Given the description of an element on the screen output the (x, y) to click on. 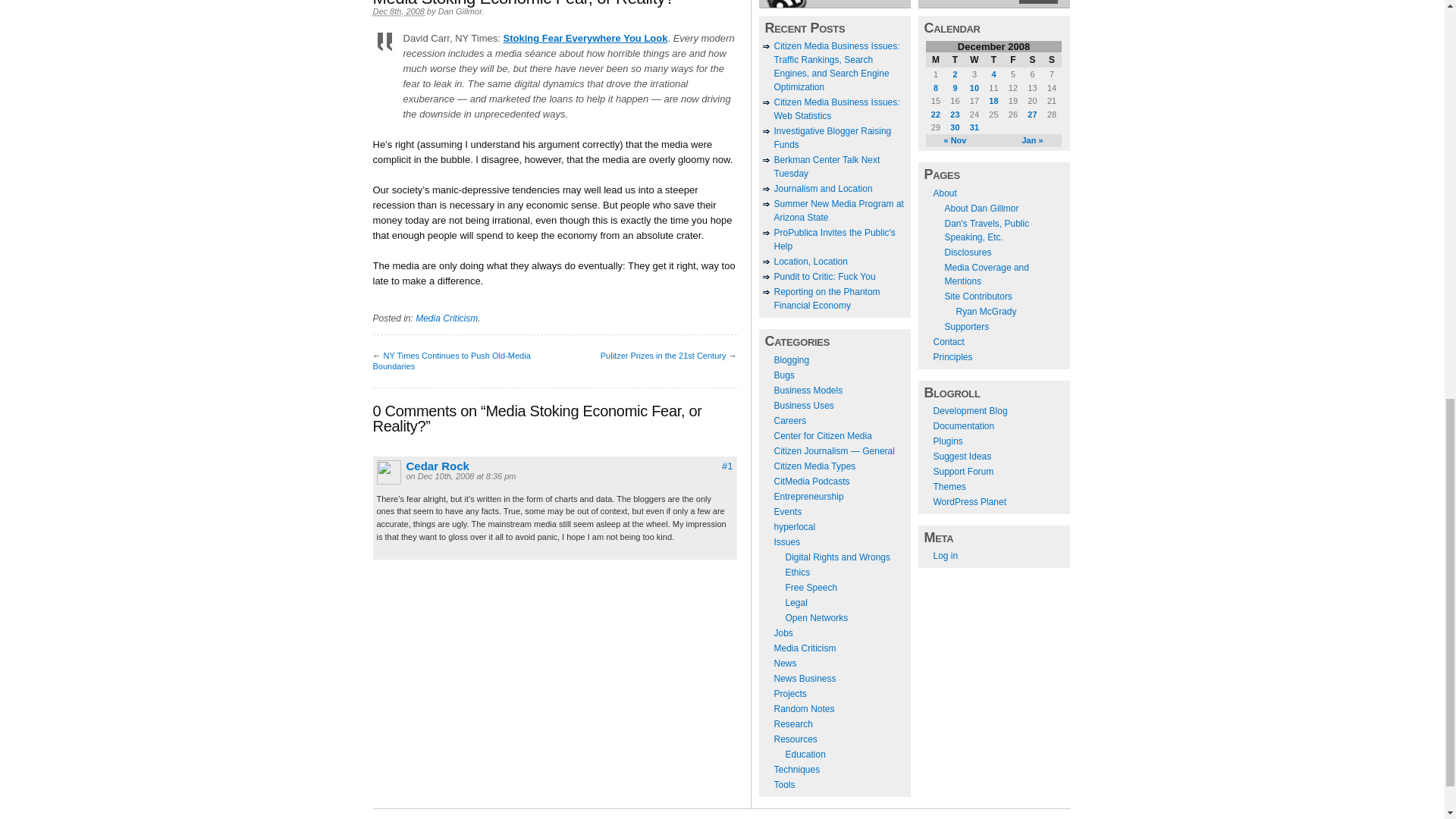
Journalism and Location (822, 188)
Summer New Media Program at Arizona State (837, 210)
Ethics (798, 572)
Dan Gillmor (459, 10)
ProPublica Invites the Public's Help (834, 239)
Digital Rights and Wrongs (838, 557)
CitMedia Podcasts (810, 480)
Tuesday (954, 59)
Pundit to Critic: Fuck You (824, 276)
Free Speech (812, 587)
Media Criticism (445, 317)
Events (787, 511)
Monday (935, 59)
Wednesday (973, 59)
